Given the description of an element on the screen output the (x, y) to click on. 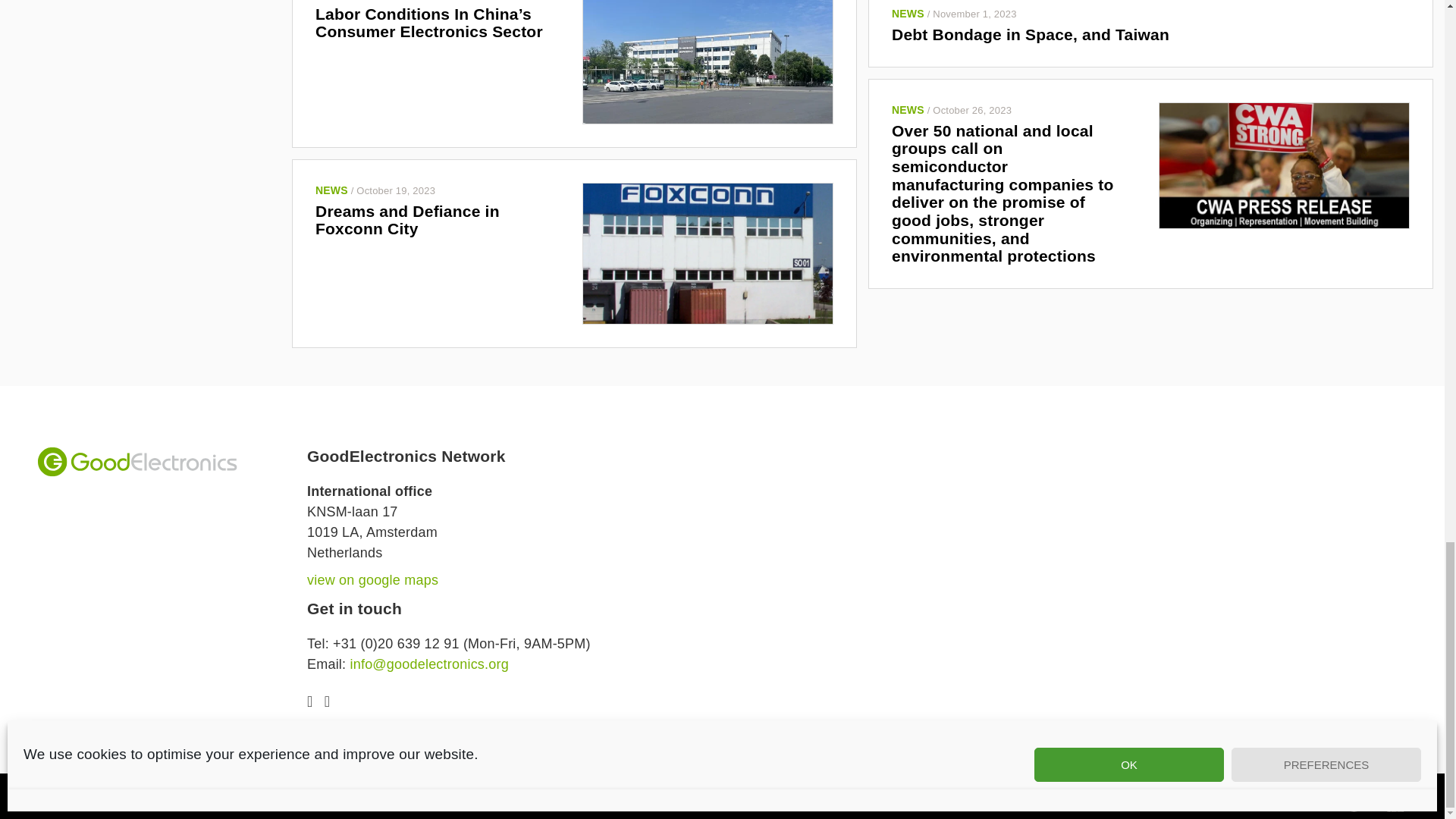
ANBI (1309, 800)
ISO (1353, 800)
Partos (1395, 800)
GoodElectronics (137, 461)
